Given the description of an element on the screen output the (x, y) to click on. 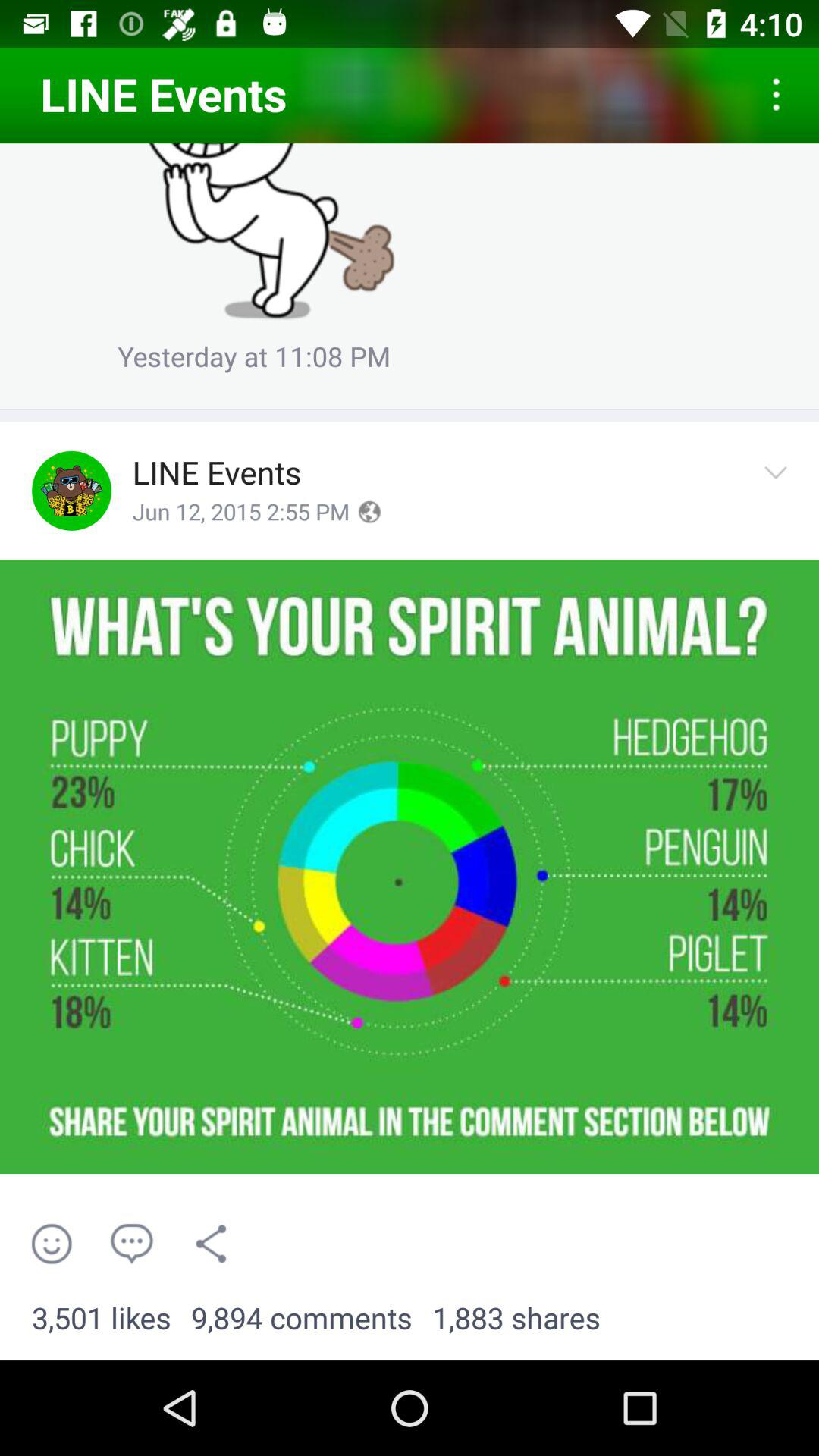
click icon to the right of the jun 12 2015 (368, 512)
